Given the description of an element on the screen output the (x, y) to click on. 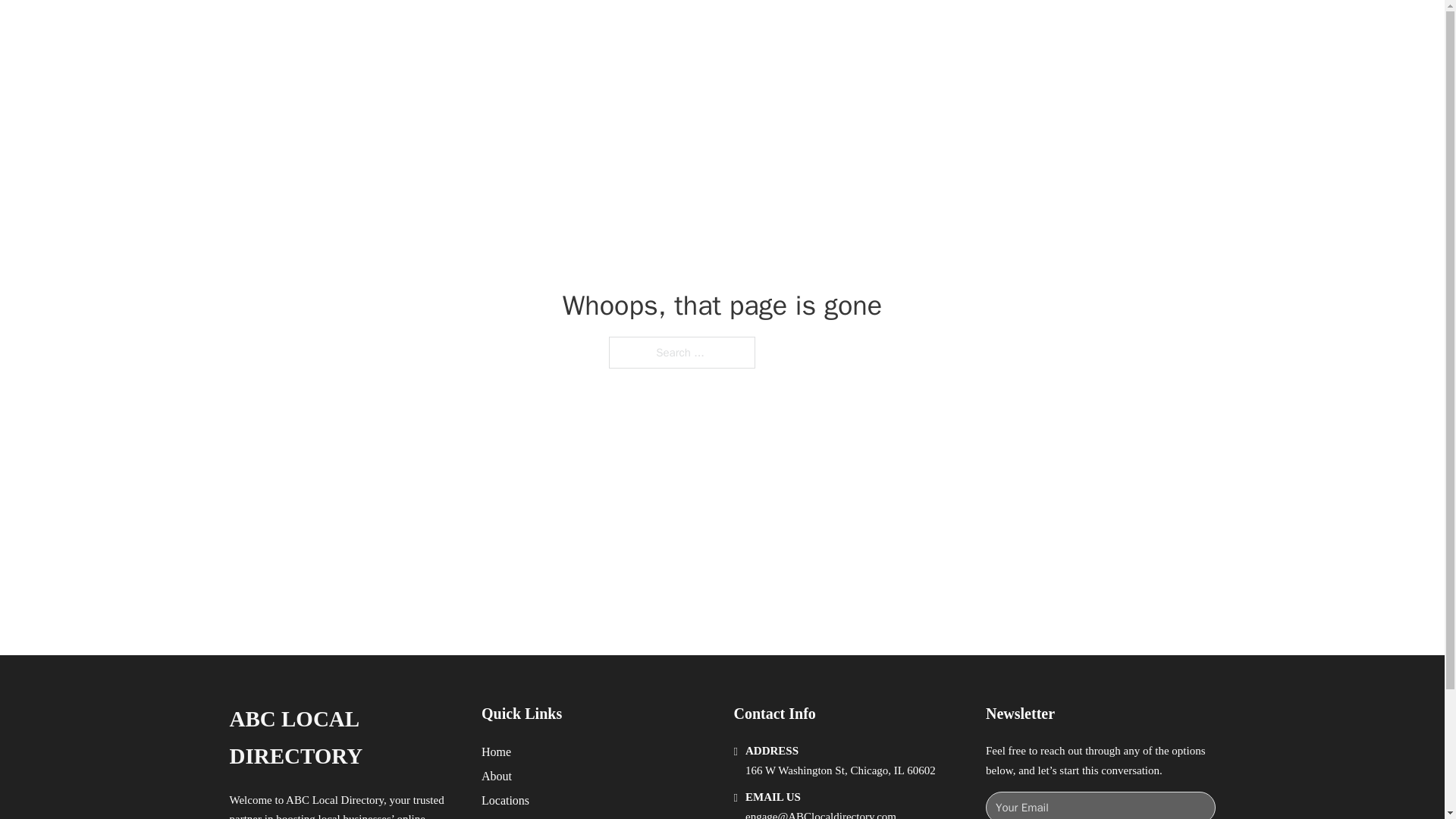
ABC LOCAL DIRECTORY (343, 738)
HOME (907, 29)
Home (496, 752)
Contact (500, 816)
LOCATIONS (978, 29)
Locations (505, 800)
ABC LOCAL DIRECTORY (425, 28)
About (496, 775)
